Given the description of an element on the screen output the (x, y) to click on. 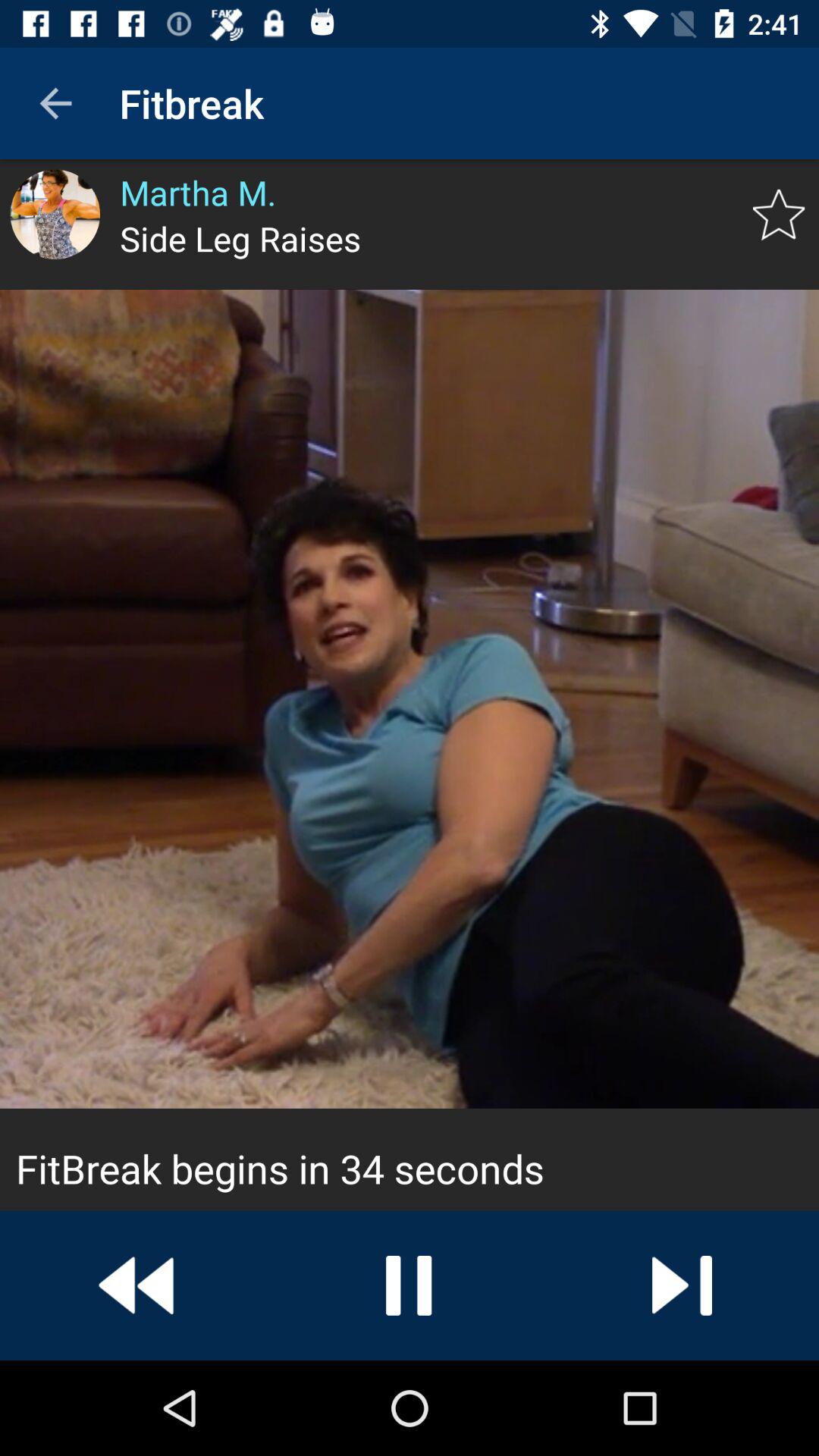
next button (682, 1285)
